Given the description of an element on the screen output the (x, y) to click on. 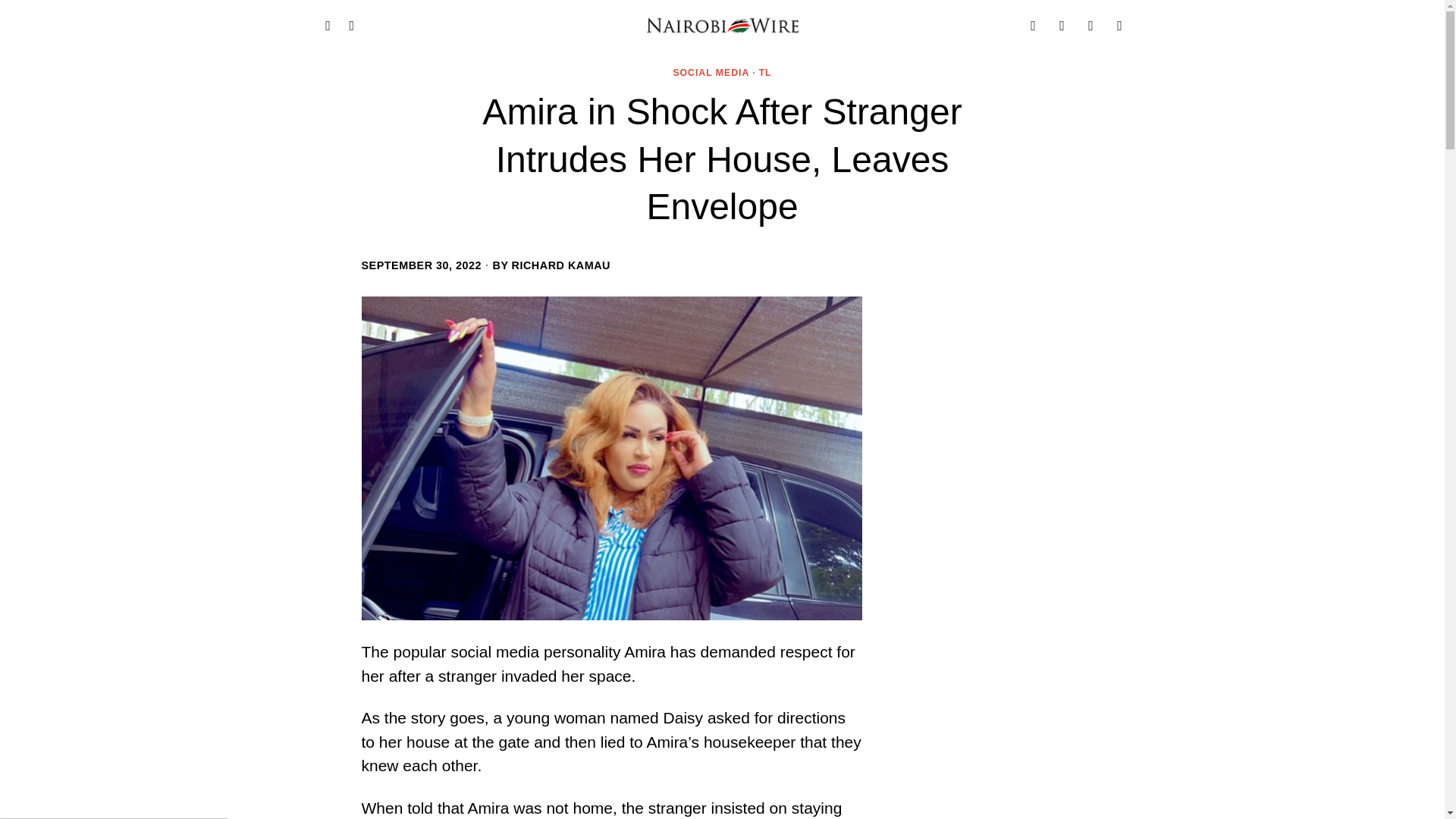
30 Sep, 2022 06:44:42 (421, 264)
SOCIAL MEDIA (710, 73)
TL (764, 73)
RICHARD KAMAU (561, 264)
